Given the description of an element on the screen output the (x, y) to click on. 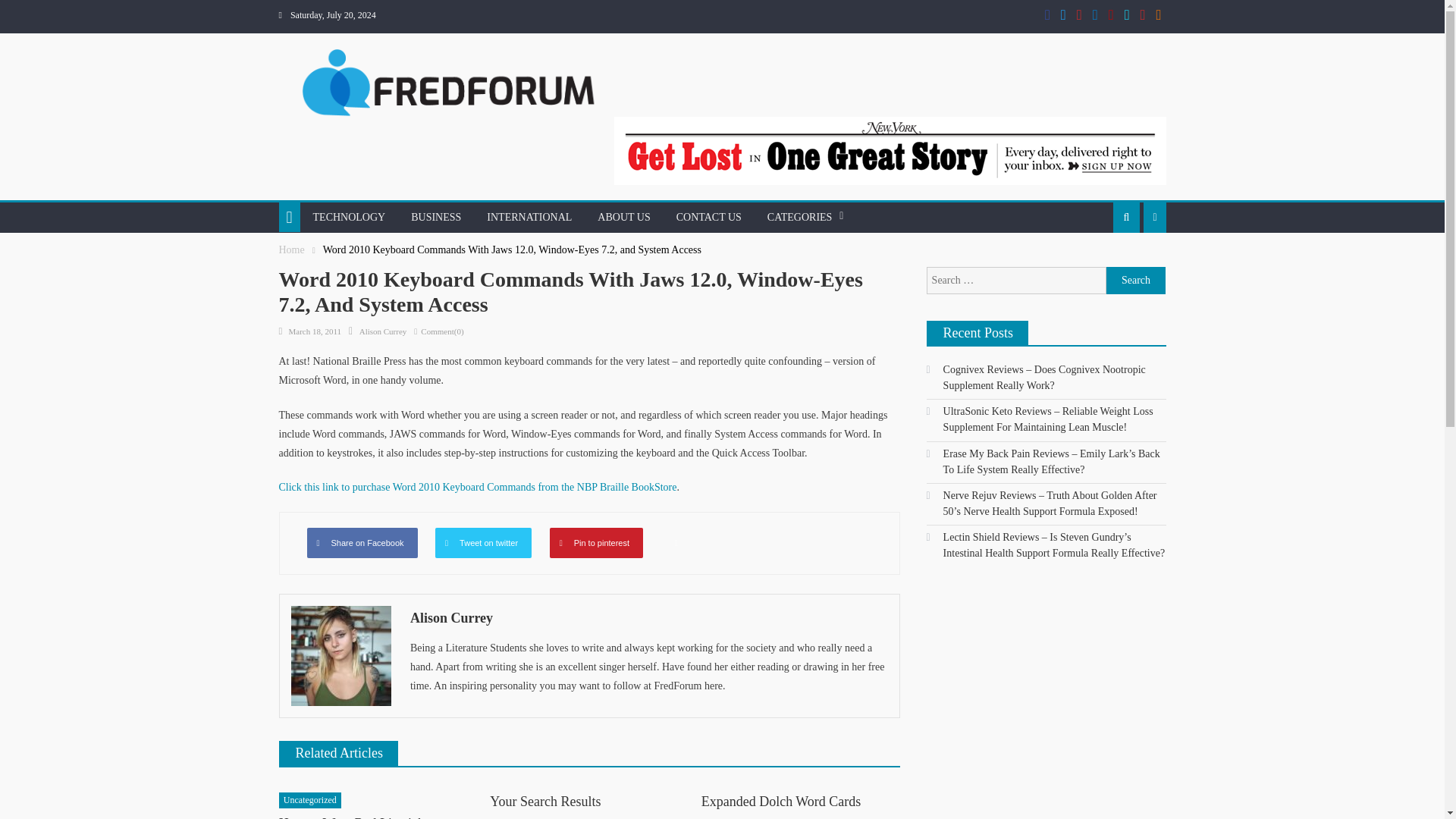
Home (291, 249)
March 18, 2011 (314, 330)
Uncategorized (309, 800)
Search (1136, 280)
TECHNOLOGY (349, 217)
Search (1136, 280)
Alison Currey (649, 617)
Share on Facebook (360, 542)
CONTACT US (708, 217)
Search (1095, 280)
CATEGORIES (799, 217)
Tweet on twitter (483, 542)
How to Wear Red Lipstick (352, 817)
BUSINESS (434, 217)
INTERNATIONAL (529, 217)
